Given the description of an element on the screen output the (x, y) to click on. 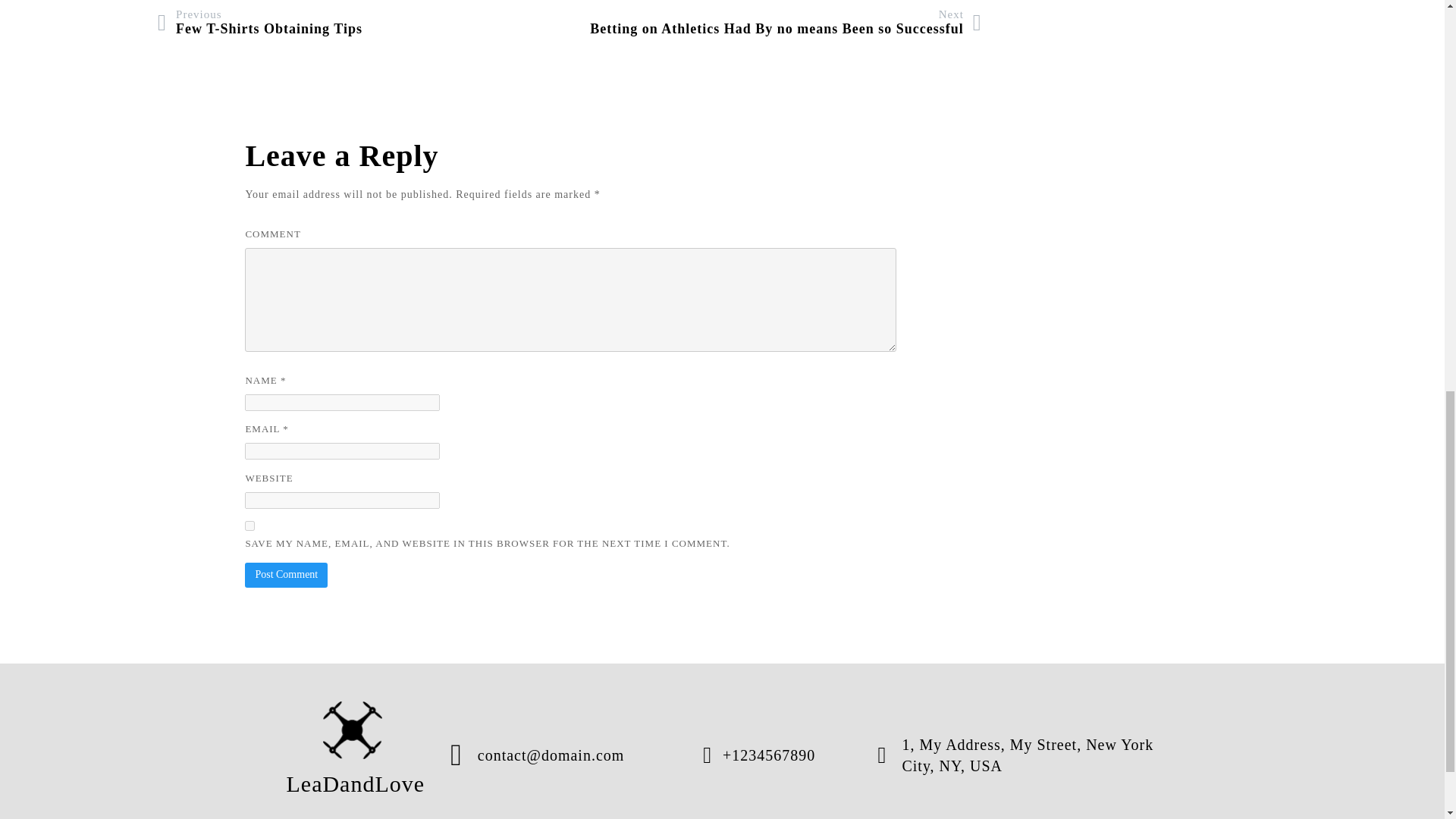
Post Comment (285, 574)
logo (785, 22)
yes (352, 730)
Post Comment (259, 22)
LeaDandLove (249, 525)
